Given the description of an element on the screen output the (x, y) to click on. 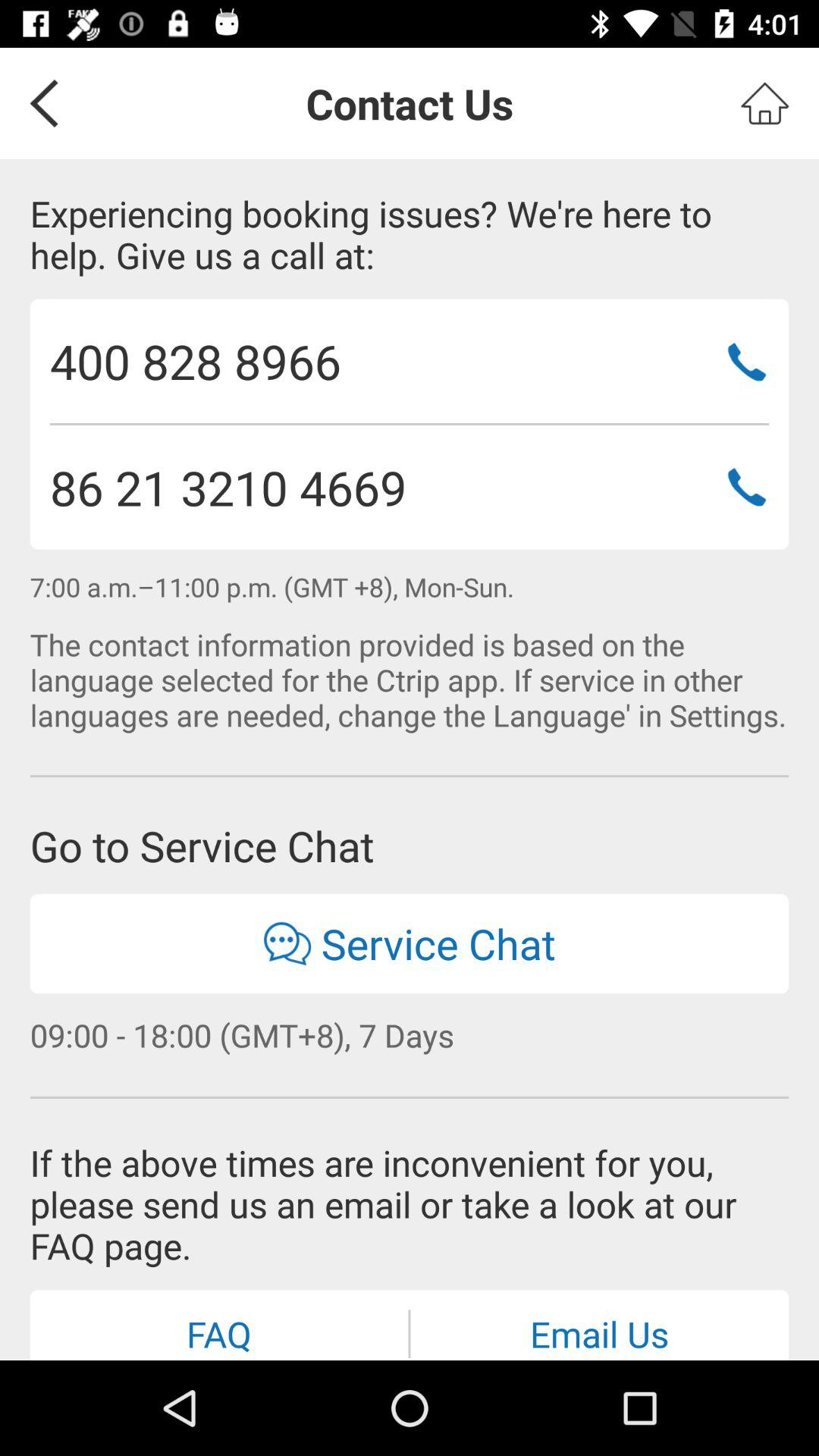
launch item above the experiencing booking issues icon (38, 103)
